Given the description of an element on the screen output the (x, y) to click on. 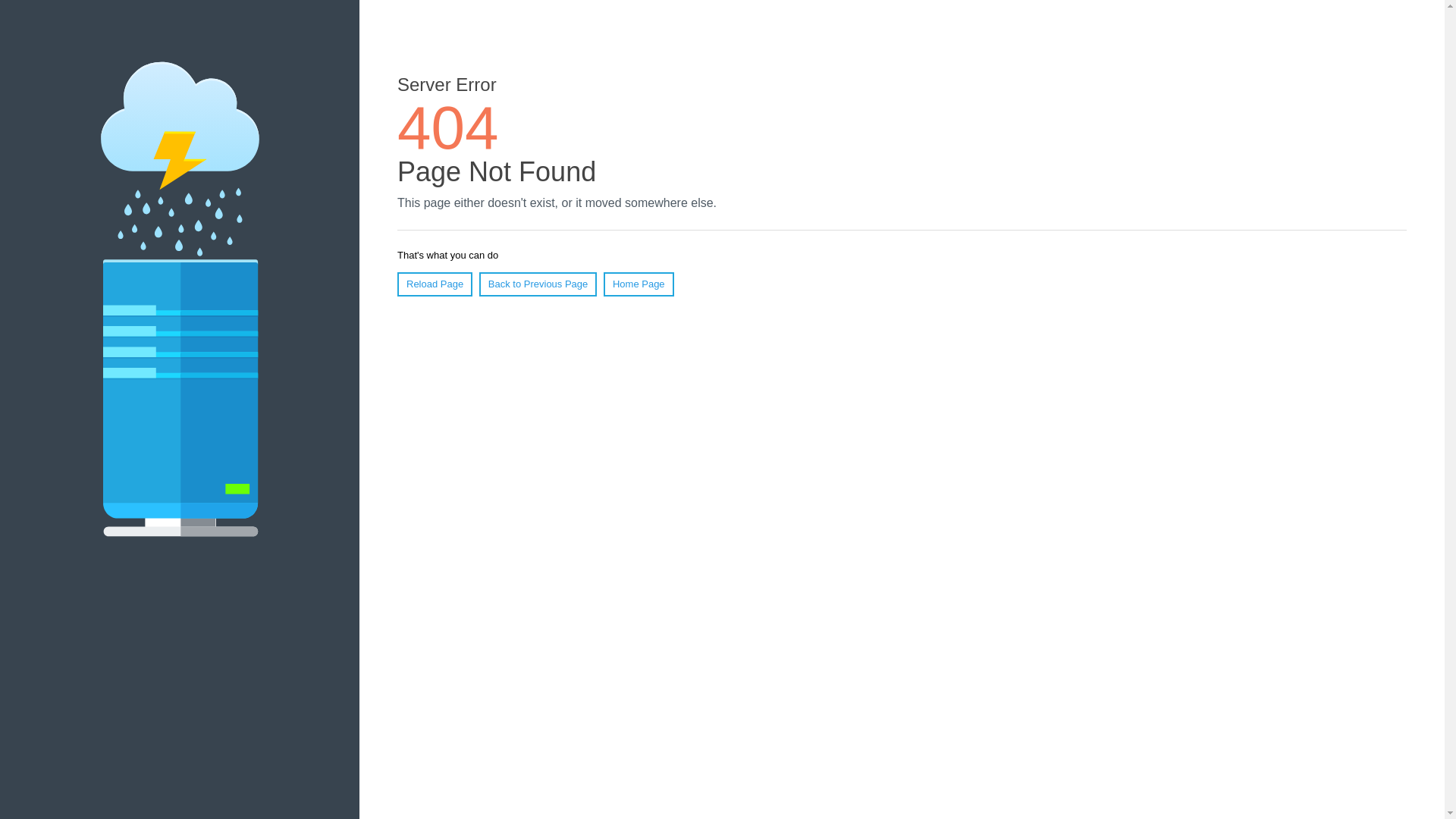
Reload Page Element type: text (434, 284)
Back to Previous Page Element type: text (538, 284)
Home Page Element type: text (638, 284)
